Given the description of an element on the screen output the (x, y) to click on. 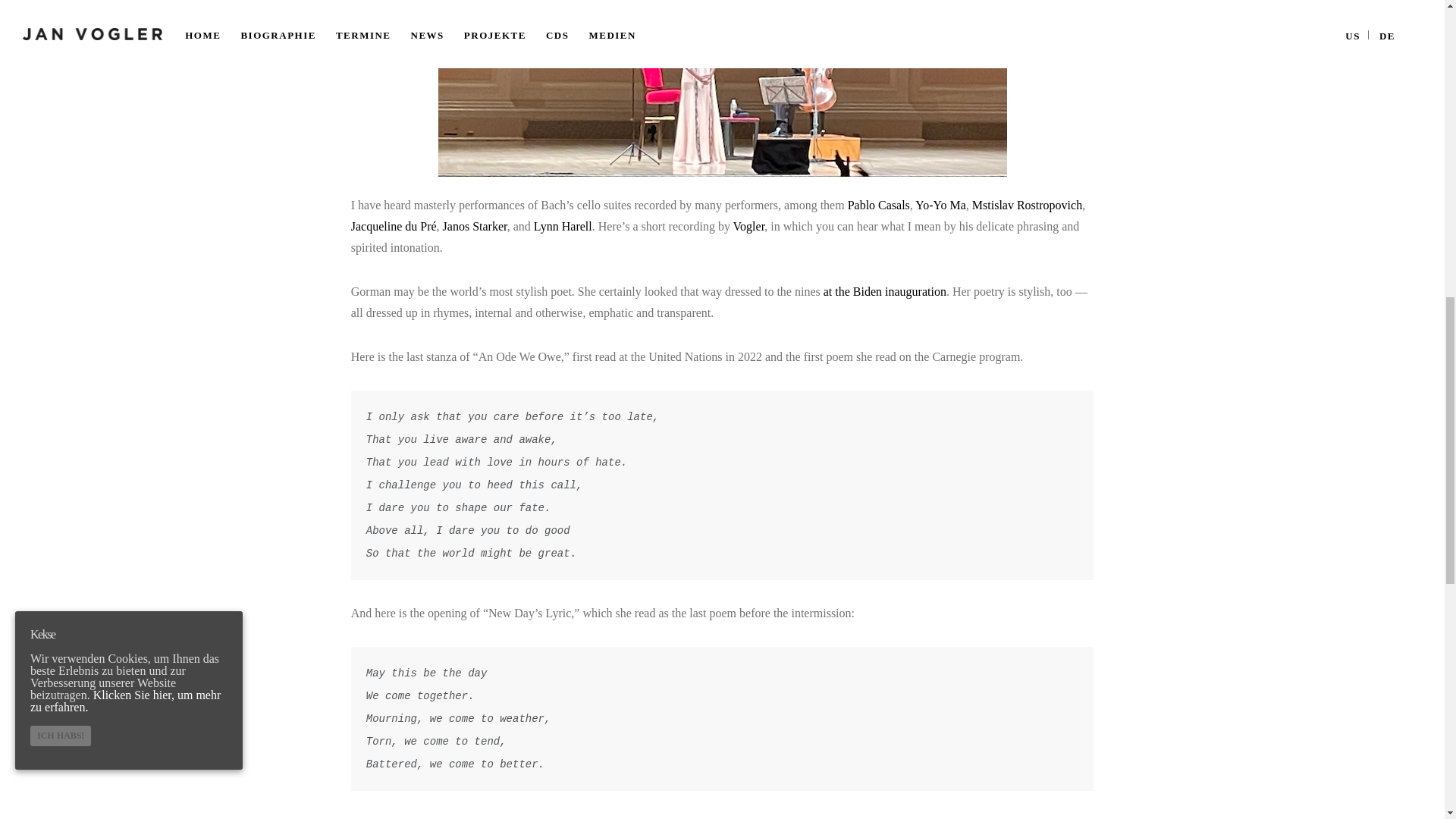
at the Biden inauguration (885, 291)
Vogler (749, 226)
Mstislav Rostropovich (1026, 205)
Ishmael Reed (1021, 818)
Yo-Yo Ma (940, 205)
Lynn Harell (563, 226)
Janos Starker (474, 226)
Gwendolyn Brooks (924, 818)
Pablo Casals (878, 205)
